Given the description of an element on the screen output the (x, y) to click on. 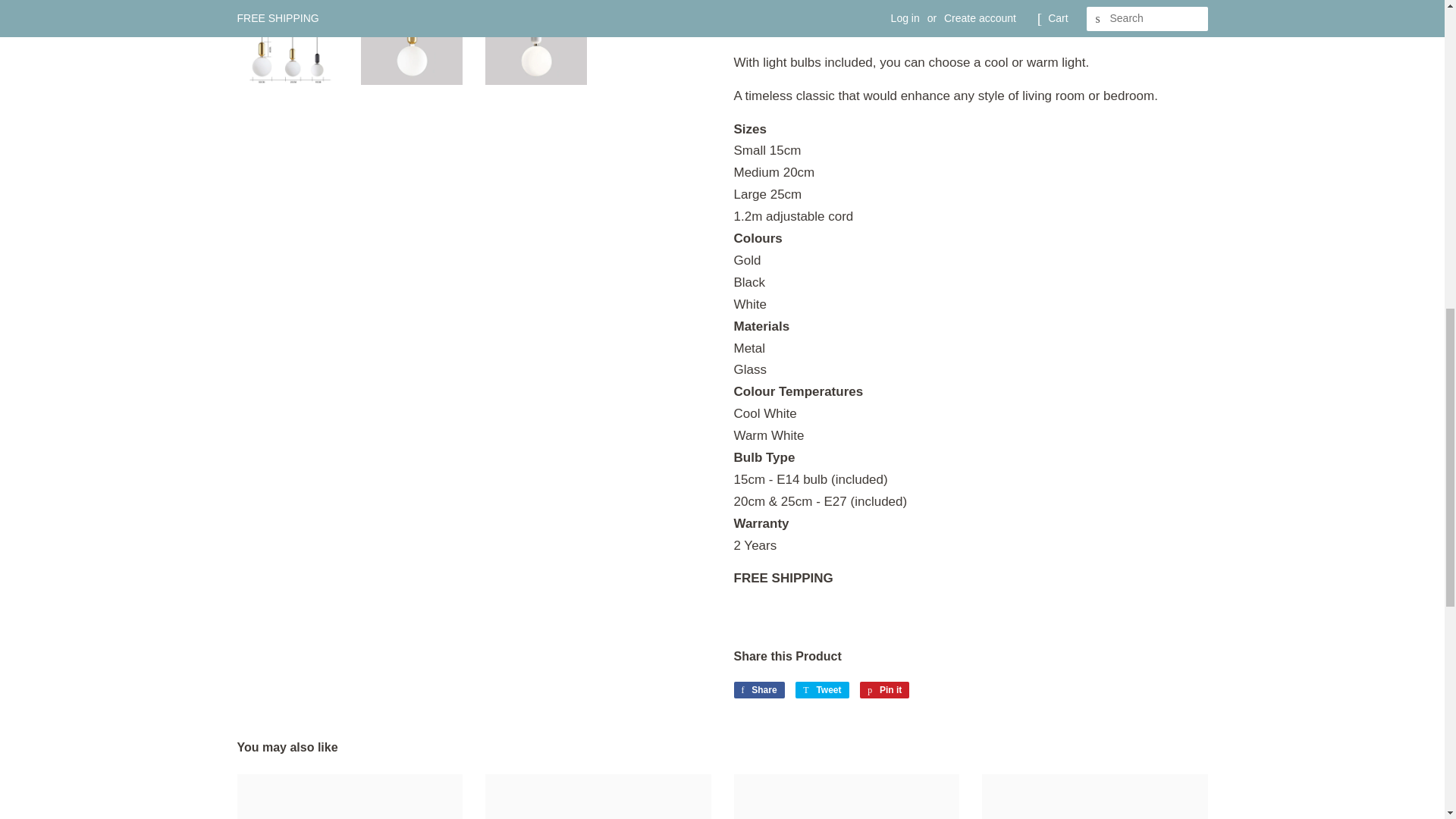
Pin on Pinterest (884, 689)
Share on Facebook (758, 689)
Tweet on Twitter (821, 689)
